Given the description of an element on the screen output the (x, y) to click on. 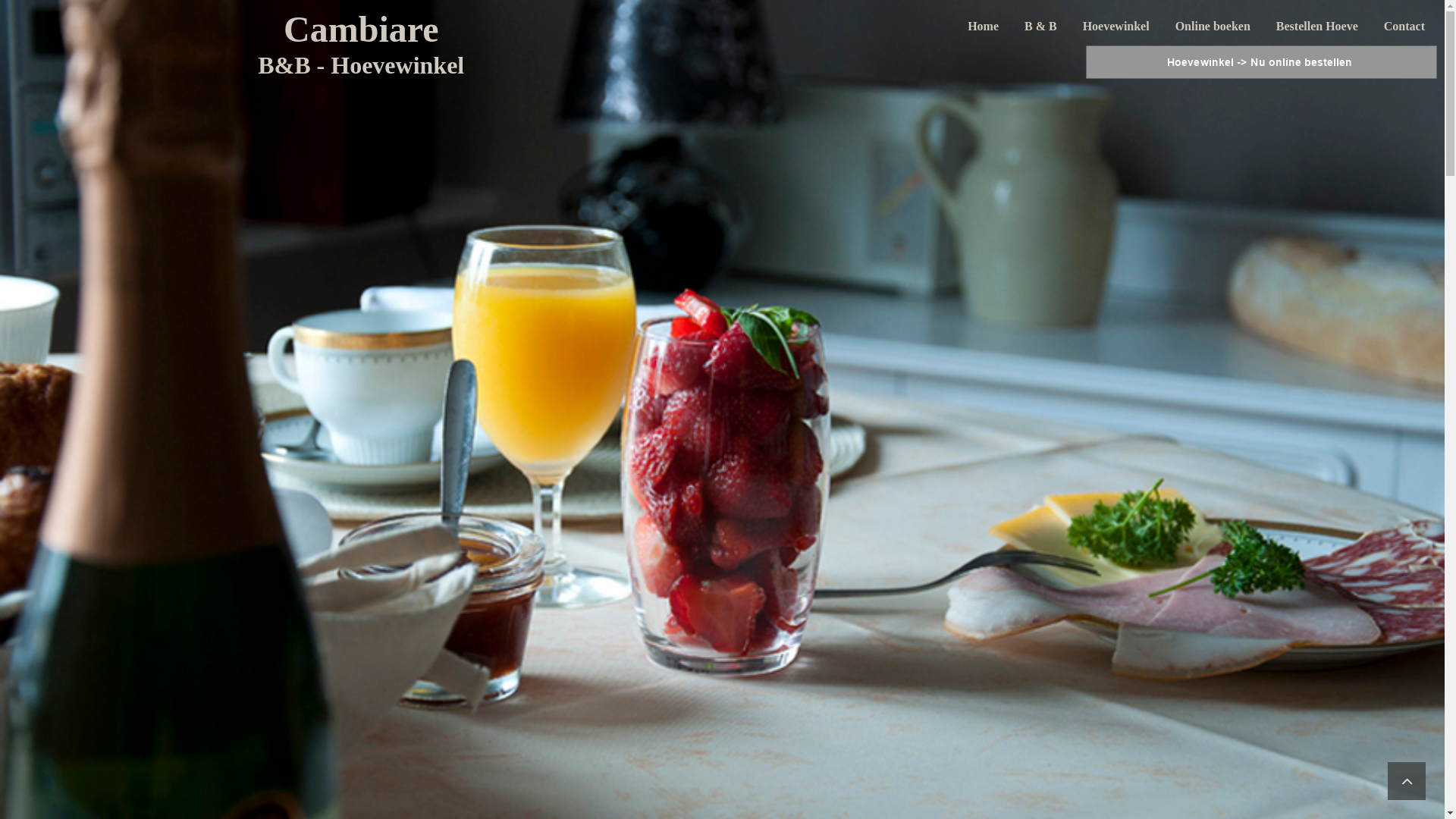
Online boeken Element type: text (1212, 25)
Bestellen Hoeve Element type: text (1317, 25)
Contact Element type: text (1403, 25)
B & B Element type: text (1040, 25)
Home Element type: text (982, 25)
Hoevewinkel Element type: text (1115, 25)
